Given the description of an element on the screen output the (x, y) to click on. 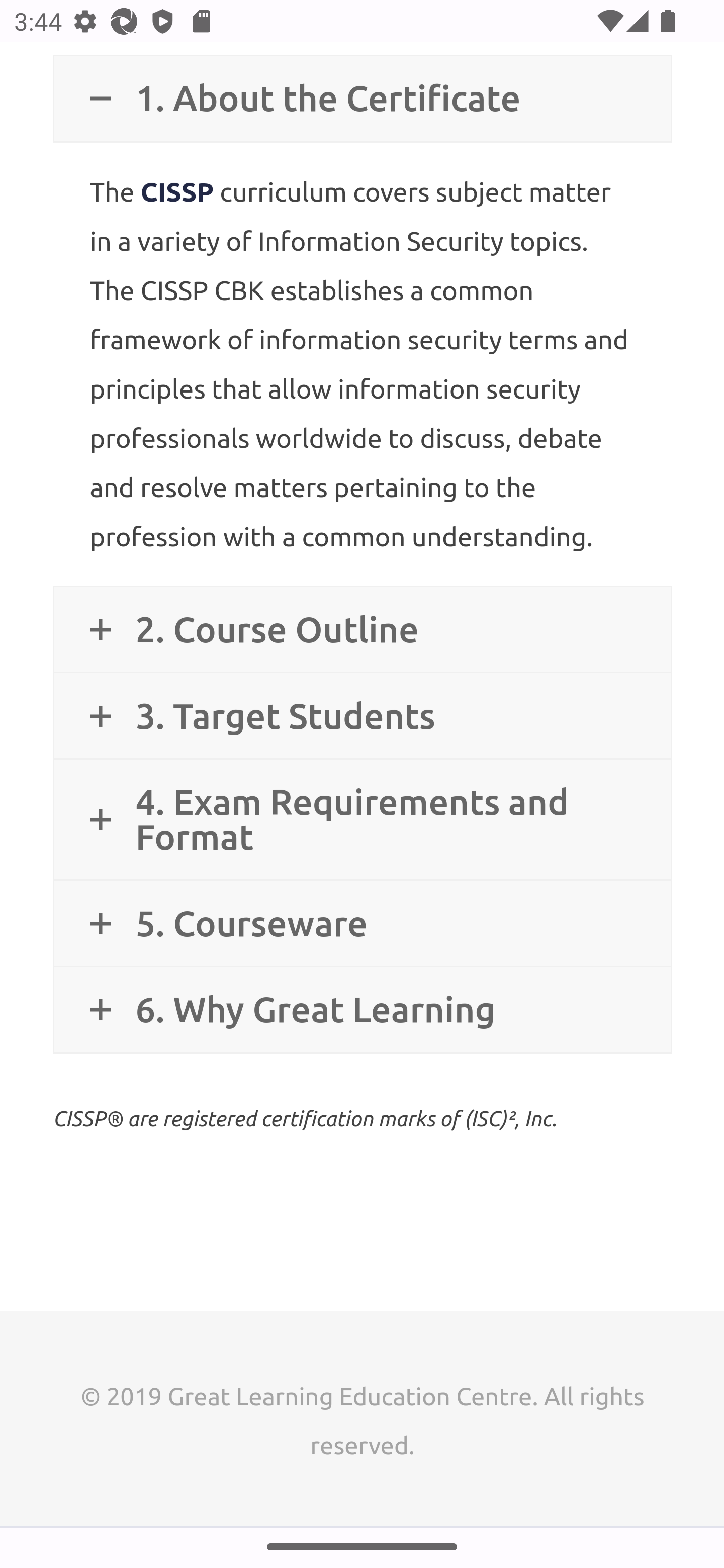
5. Courseware 5. Courseware 5. Courseware (361, 924)
